Given the description of an element on the screen output the (x, y) to click on. 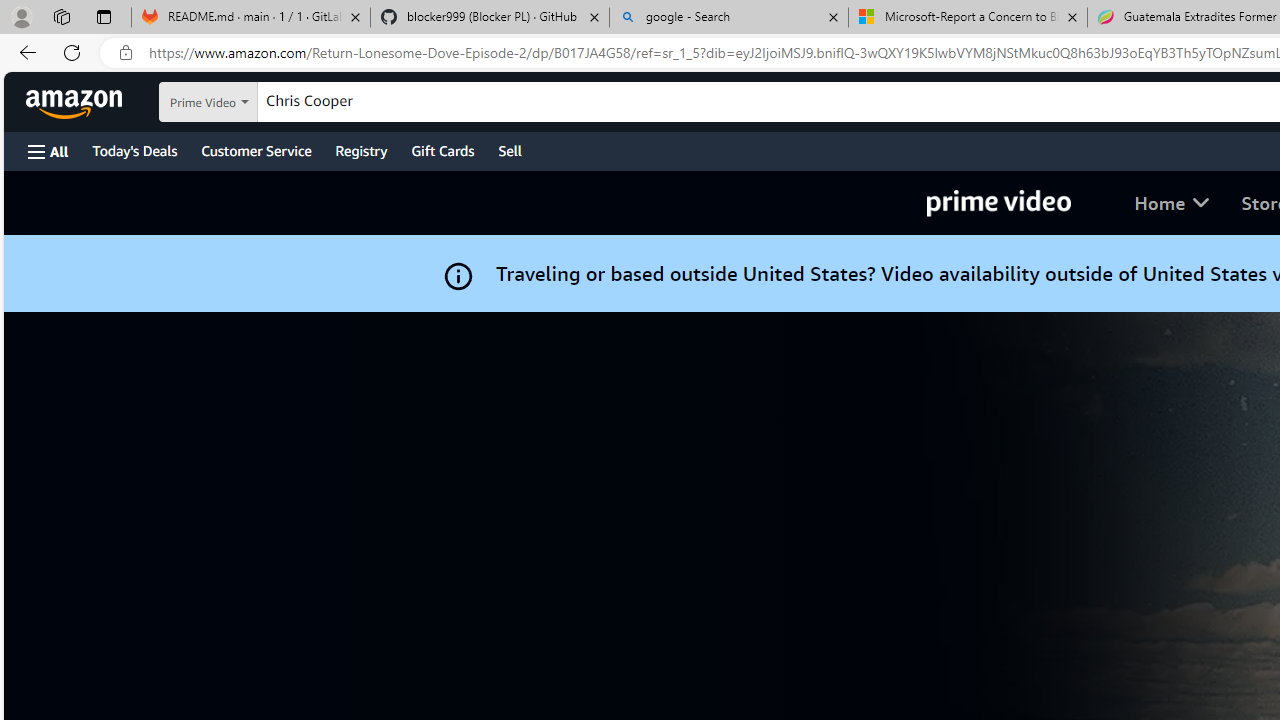
Customer Service (256, 150)
Today's Deals (134, 150)
Search in (259, 102)
